Given the description of an element on the screen output the (x, y) to click on. 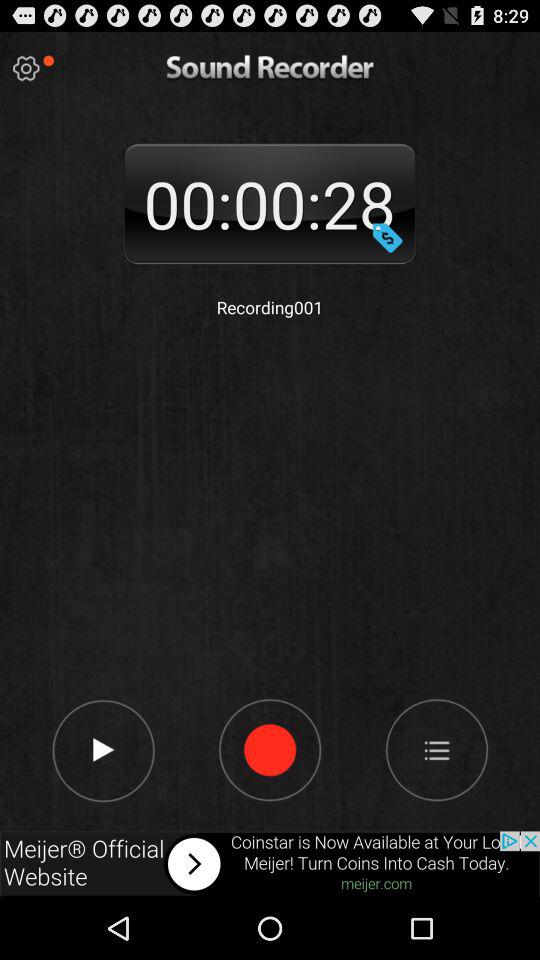
next playlists (436, 749)
